Given the description of an element on the screen output the (x, y) to click on. 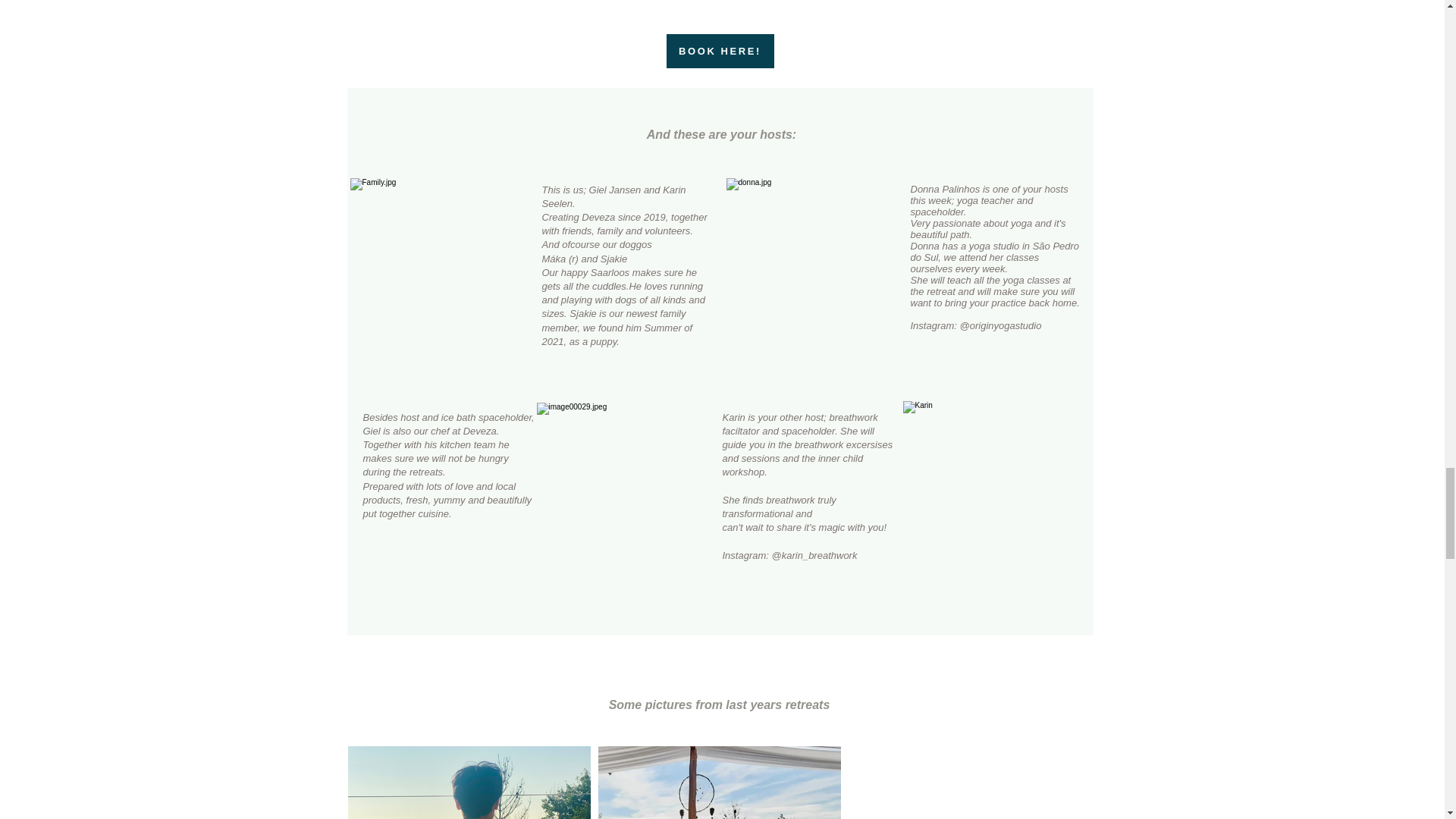
BOOK HERE! (719, 50)
